Given the description of an element on the screen output the (x, y) to click on. 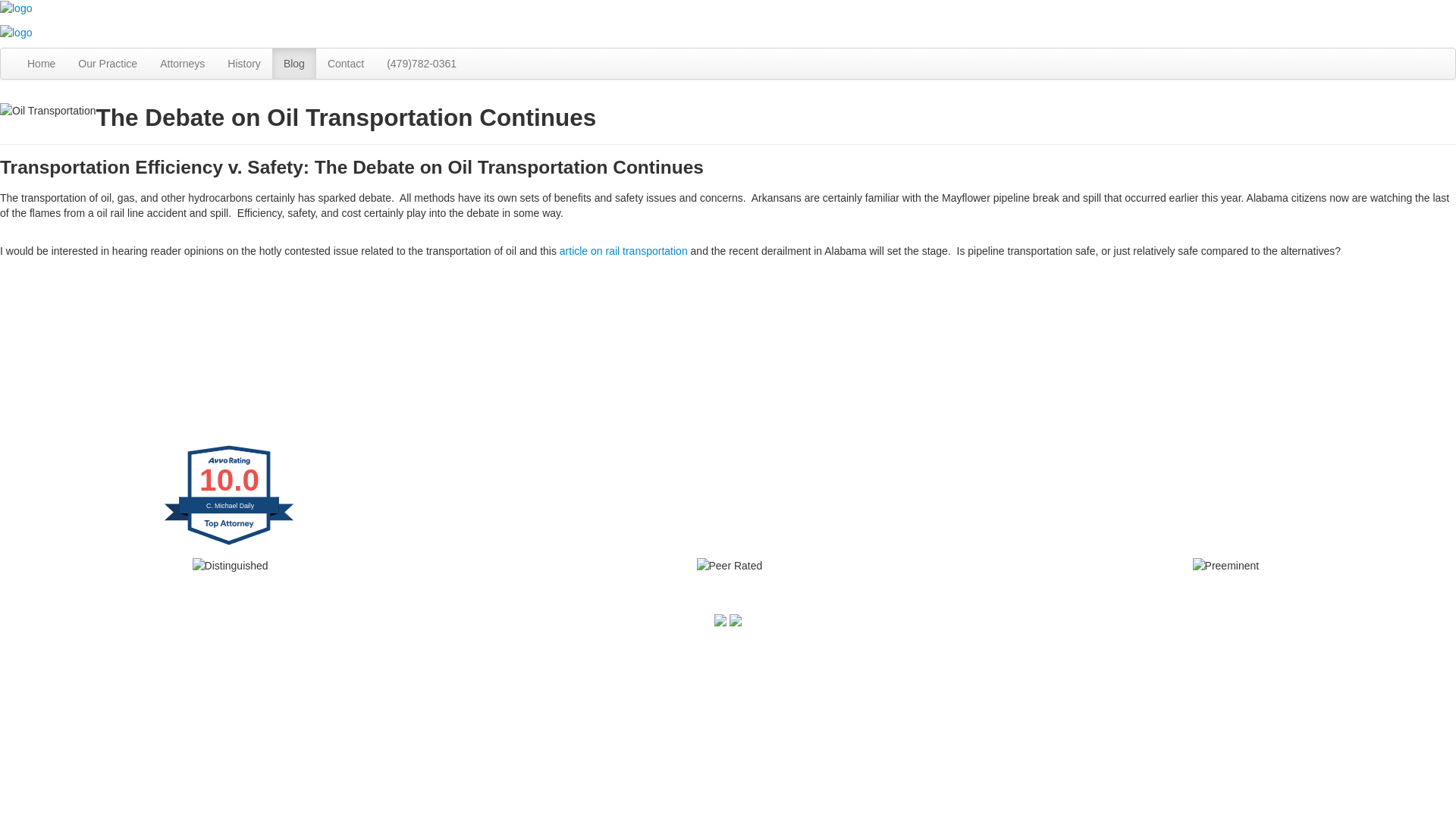
Attorneys (181, 63)
Home (41, 63)
article on rail transportation (623, 250)
Blog (293, 63)
Attorneys (181, 63)
479-782-0361 (248, 656)
Blog (293, 63)
